Given the description of an element on the screen output the (x, y) to click on. 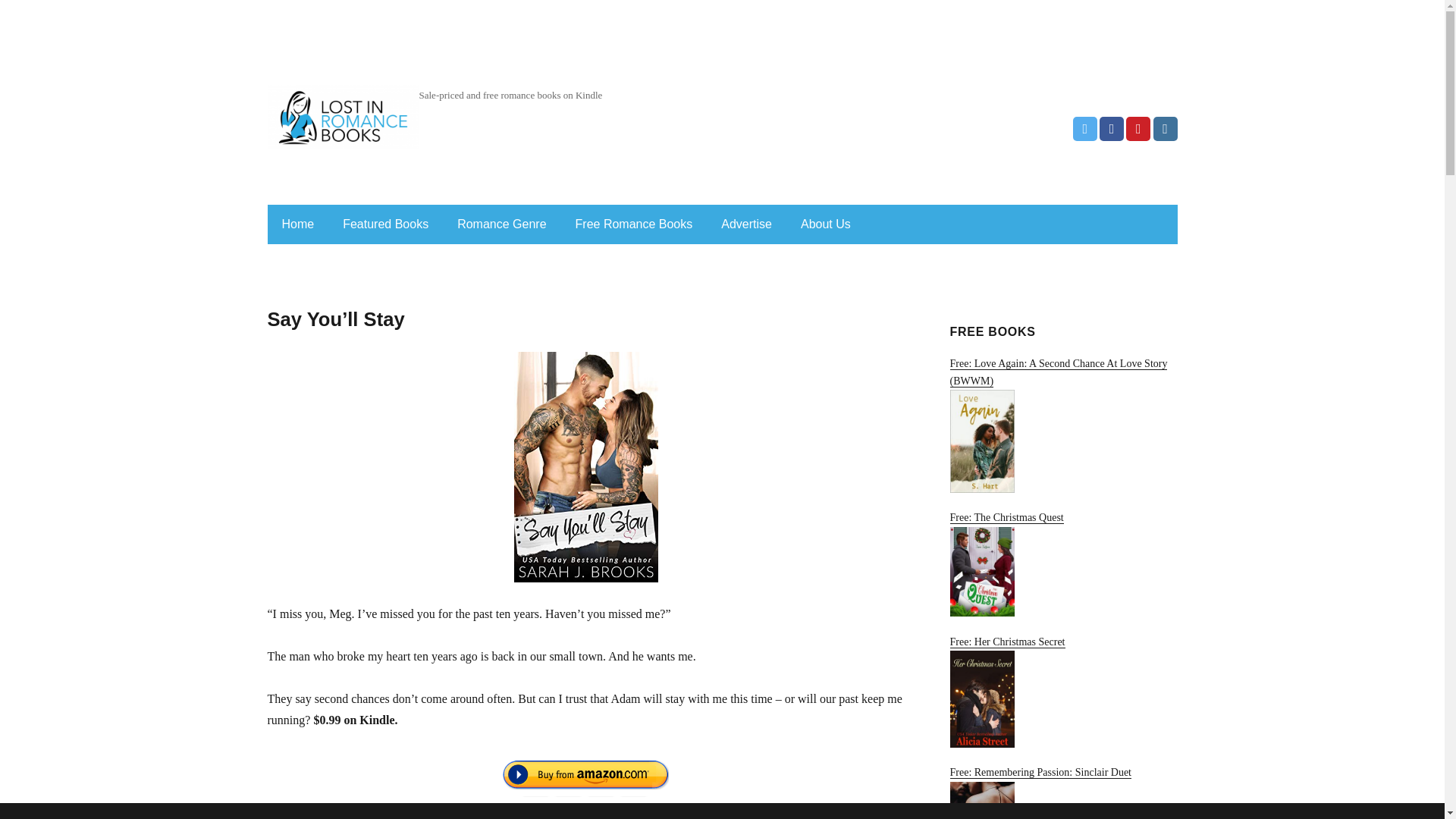
Free Romance Books (633, 224)
Instagram (1164, 128)
Pinterest (1137, 128)
Home (297, 224)
Twitter (1085, 128)
Facebook (1111, 128)
Advertise (746, 224)
Free: The Christmas Quest (1062, 563)
About Us (825, 224)
Free: Remembering Passion: Sinclair Duet (1062, 792)
Free: Her Christmas Secret (1062, 691)
Featured Books (385, 224)
Romance Genre (501, 224)
